Given the description of an element on the screen output the (x, y) to click on. 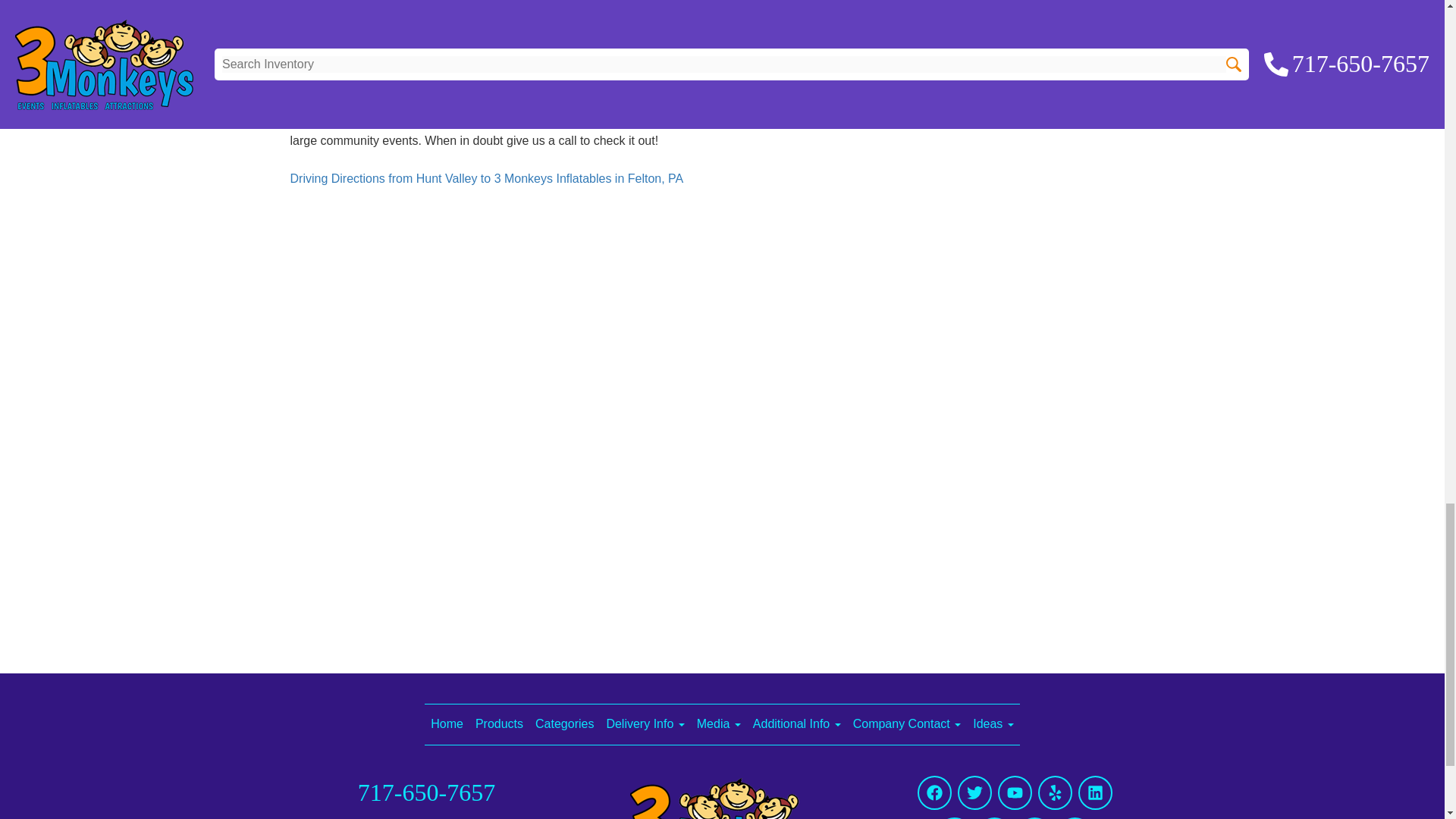
3 MONKEYS INFLATABLES Facebook (934, 792)
3 MONKEYS INFLATABLES Yelp (1054, 792)
3 MONKEYS INFLATABLES LinkedIn (1095, 792)
3 MONKEYS INFLATABLES YouTube (1014, 792)
3 MONKEYS INFLATABLES Twitter (974, 792)
Driving Directions from Hunt Valley to Felton, PA (485, 178)
